Given the description of an element on the screen output the (x, y) to click on. 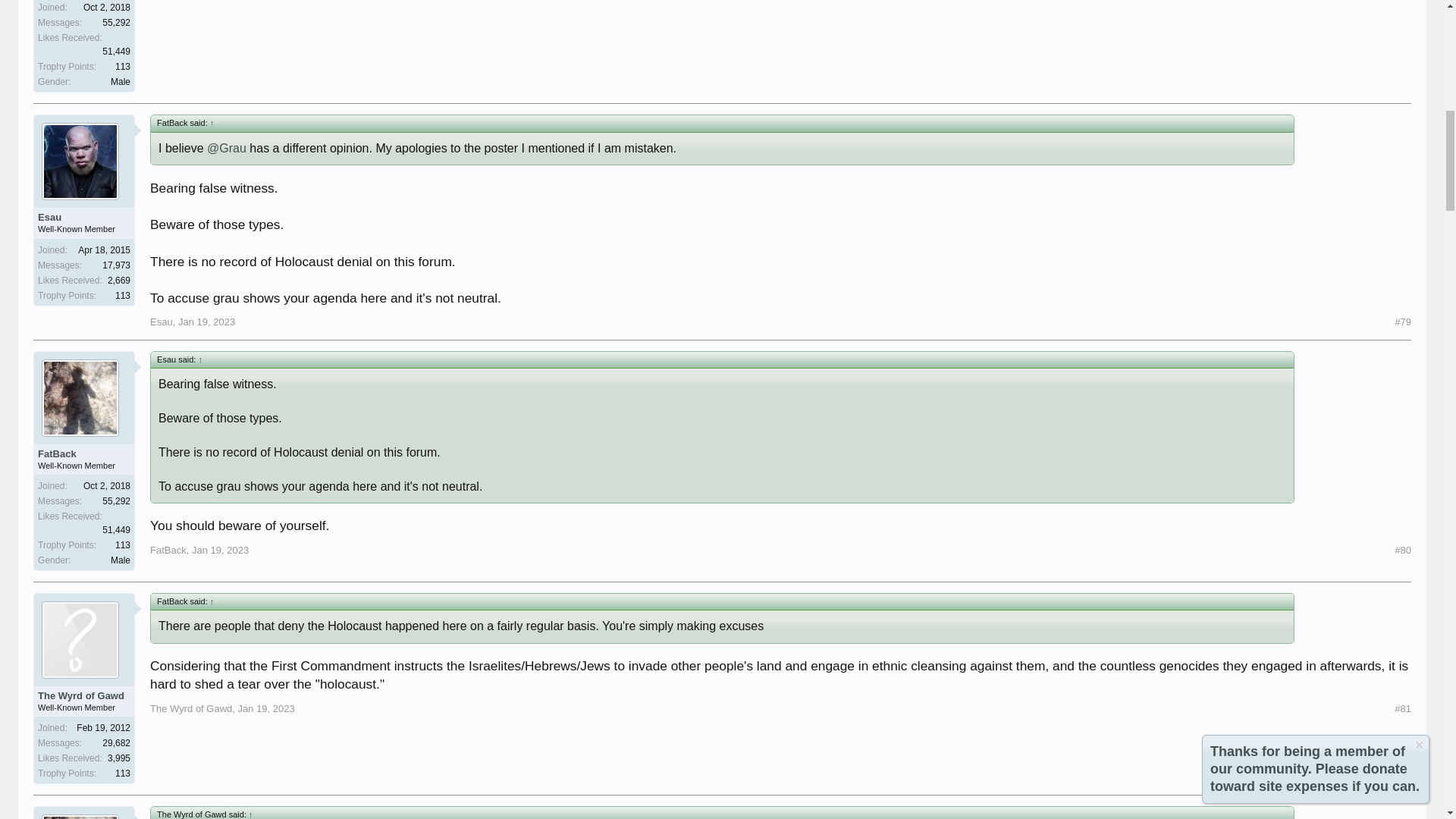
113 (123, 66)
Permalink (205, 321)
Permalink (220, 550)
Permalink (1402, 550)
Permalink (1402, 322)
55,292 (116, 22)
